Given the description of an element on the screen output the (x, y) to click on. 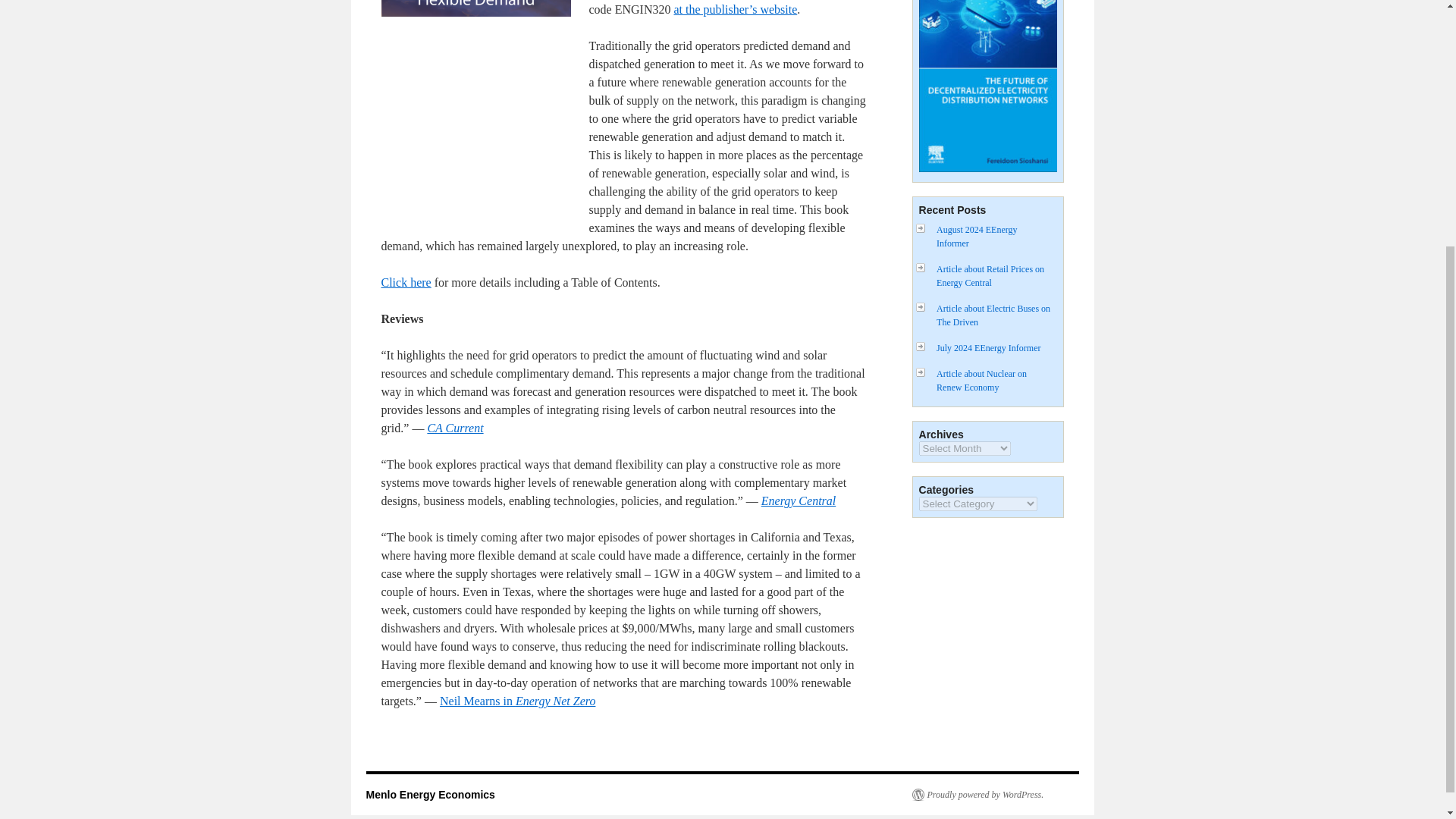
Energy Central (798, 500)
Click here (405, 282)
Semantic Personal Publishing Platform (977, 794)
Neil Mearns in Energy Net Zero (517, 700)
Menlo Energy Economics (430, 794)
CA Current (454, 427)
Article about Retail Prices on Energy Central (989, 275)
August 2024 EEnergy Informer (976, 236)
